Given the description of an element on the screen output the (x, y) to click on. 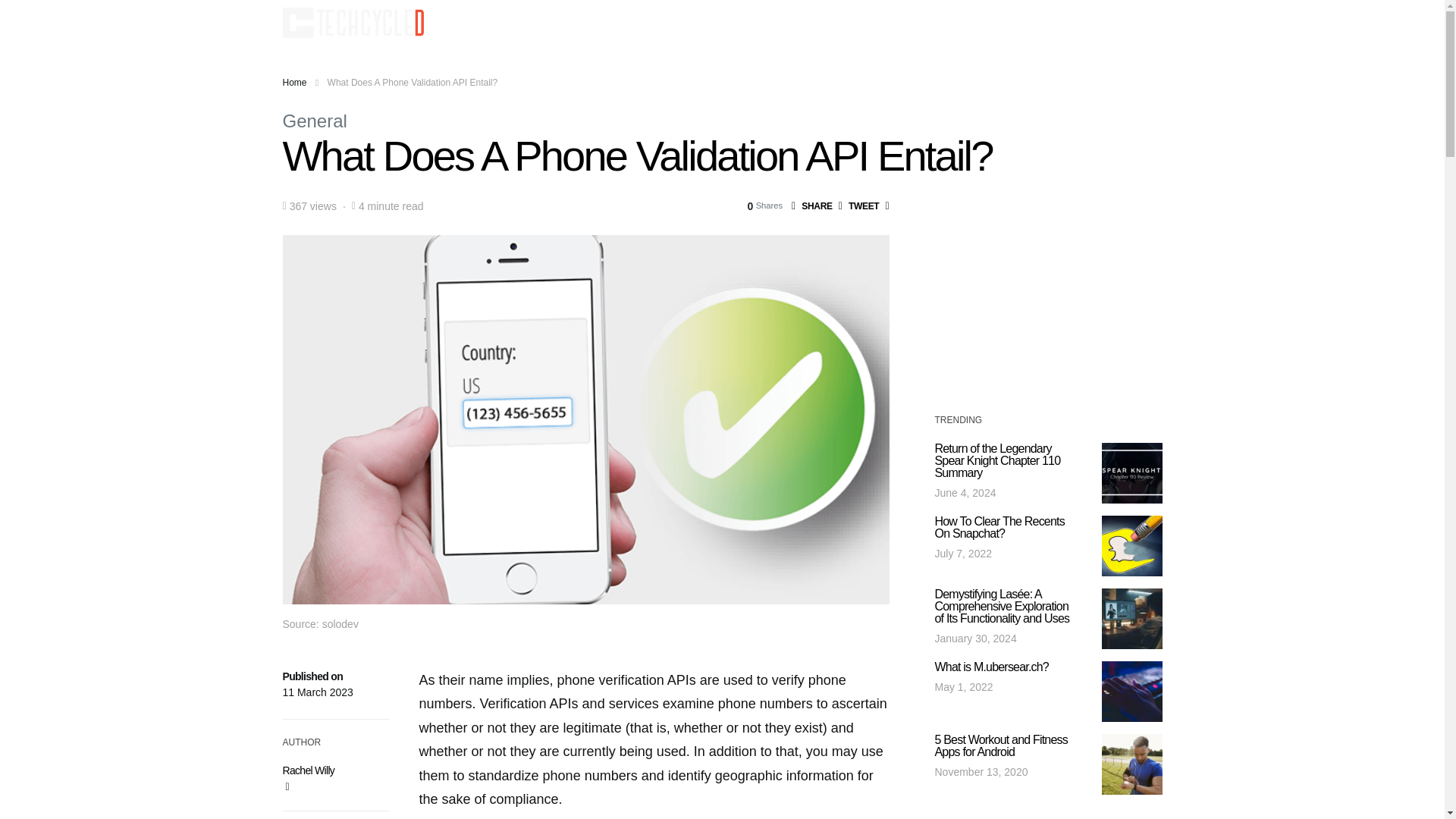
MORE (962, 22)
REVIEWS (677, 22)
GADGETS (577, 22)
TECHNOLOGY (811, 22)
SECURITY (738, 22)
CONTACT US (1022, 22)
SOCIAL MEDIA (895, 22)
HOW-TO (520, 22)
